Given the description of an element on the screen output the (x, y) to click on. 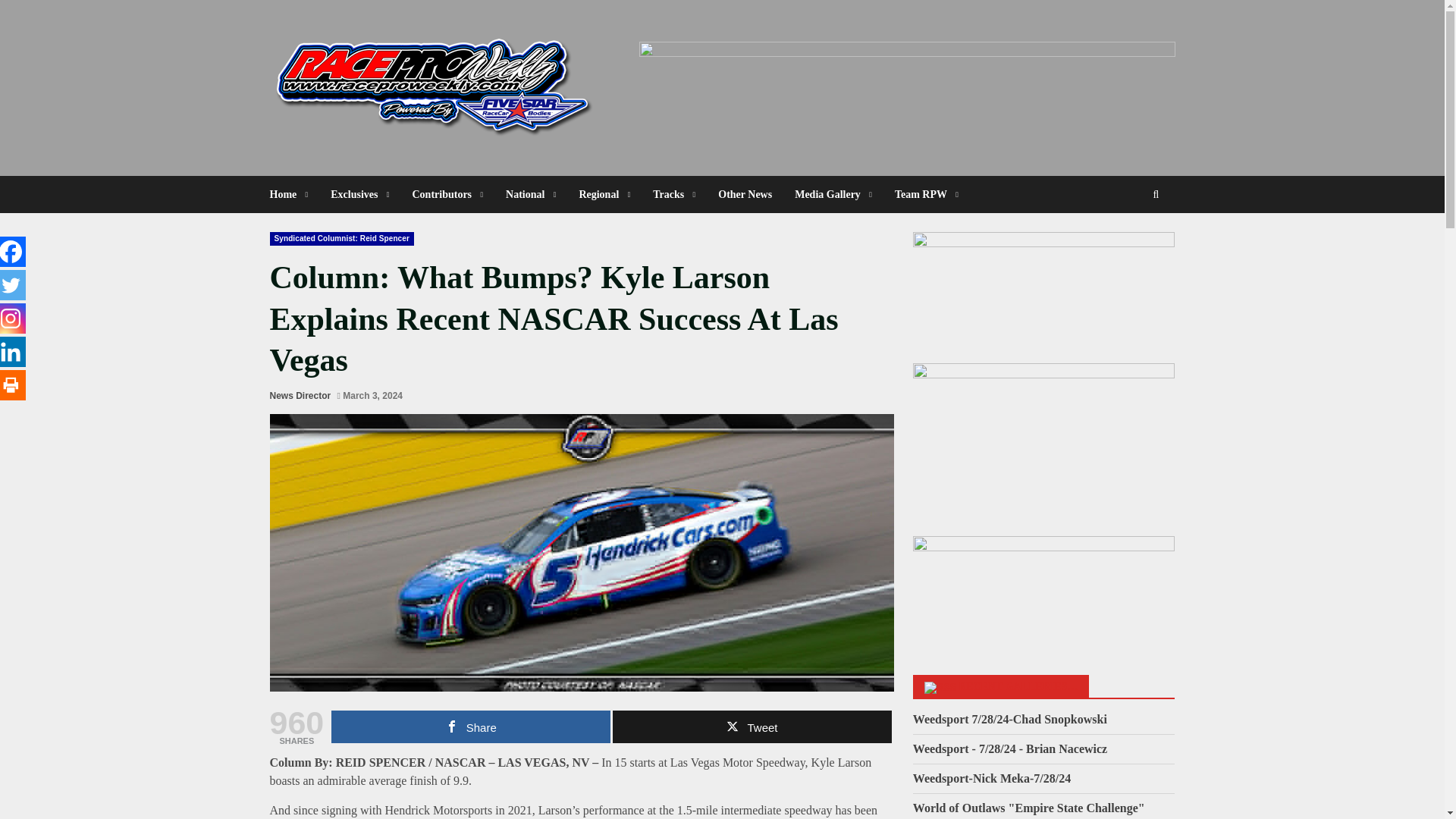
Contributors (447, 194)
Regional (604, 194)
Exclusives (359, 194)
Home (294, 194)
National (531, 194)
